Given the description of an element on the screen output the (x, y) to click on. 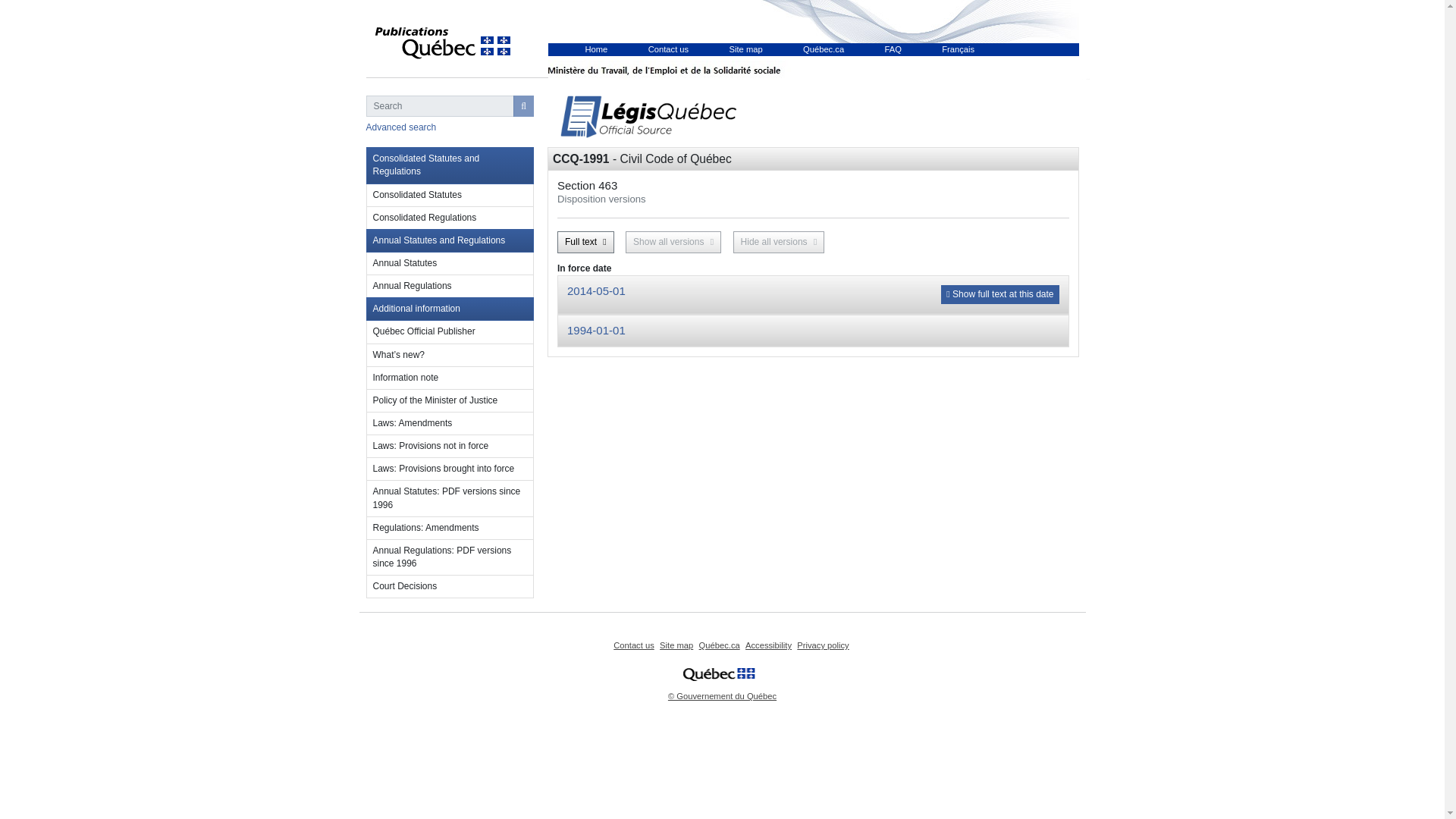
Home (641, 116)
Annual Statutes and Regulations (449, 240)
Show all versions (673, 241)
Accessibility (768, 645)
Annual Regulations (449, 286)
Laws: Amendments (449, 423)
FAQ (892, 49)
Site map (676, 645)
Advanced search (400, 127)
Laws: Provisions brought into force (449, 468)
Contact us (633, 645)
Site map (745, 49)
Laws: Provisions not in force (449, 445)
2014-05-01 (596, 290)
Contact us (667, 49)
